Given the description of an element on the screen output the (x, y) to click on. 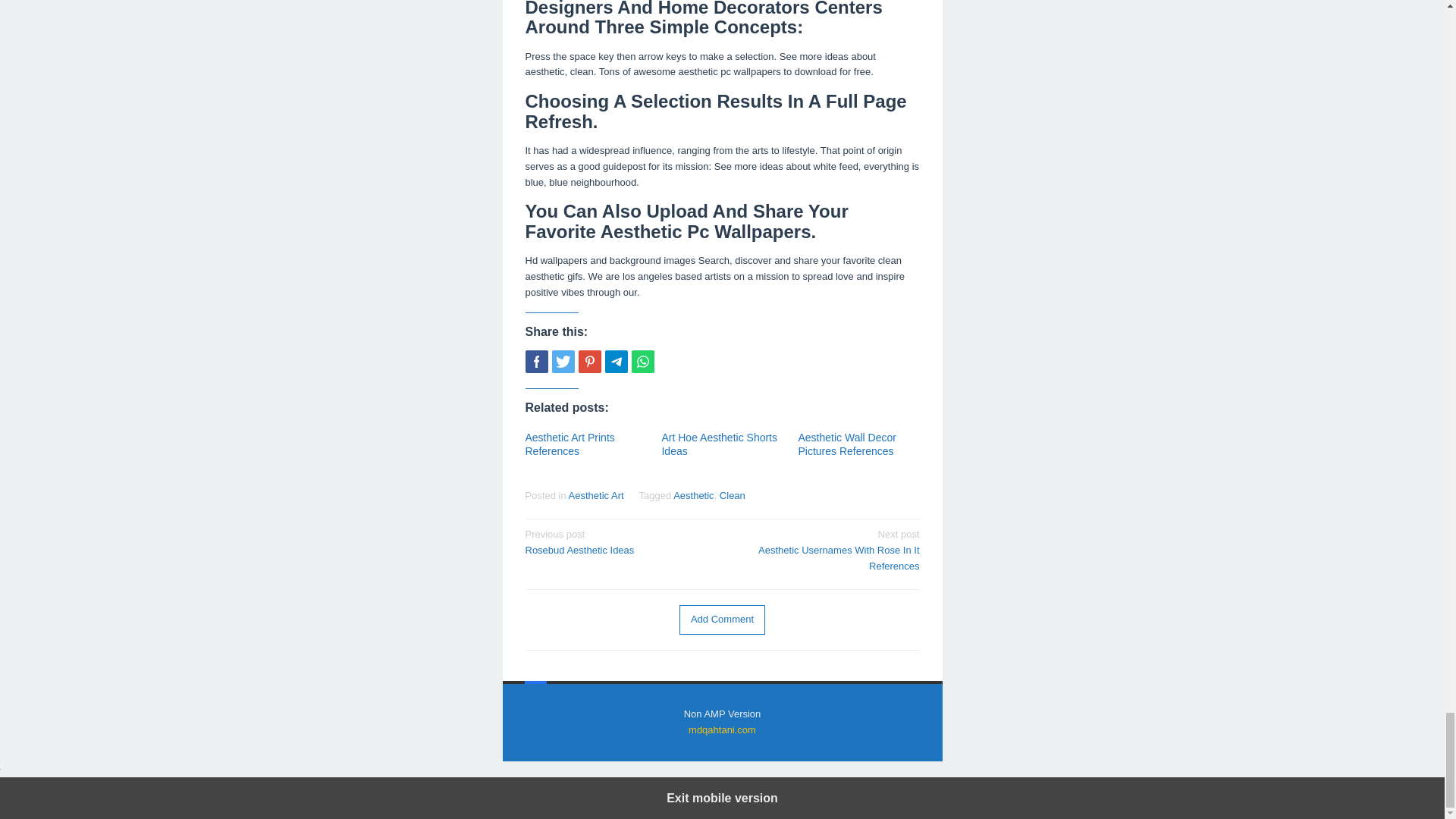
Aesthetic (692, 495)
Aesthetic Wall Decor Pictures References (846, 444)
Pin this (588, 361)
Permalink to: Aesthetic Wall Decor Pictures References (846, 444)
Art Hoe Aesthetic Shorts Ideas (719, 444)
Add Comment (722, 619)
Permalink to: Aesthetic Art Prints References (569, 444)
Whatsapp (825, 549)
Non AMP Version (641, 361)
Aesthetic Art (722, 713)
Add Comment (596, 495)
Permalink to: Art Hoe Aesthetic Shorts Ideas (722, 619)
Share this (619, 541)
